Given the description of an element on the screen output the (x, y) to click on. 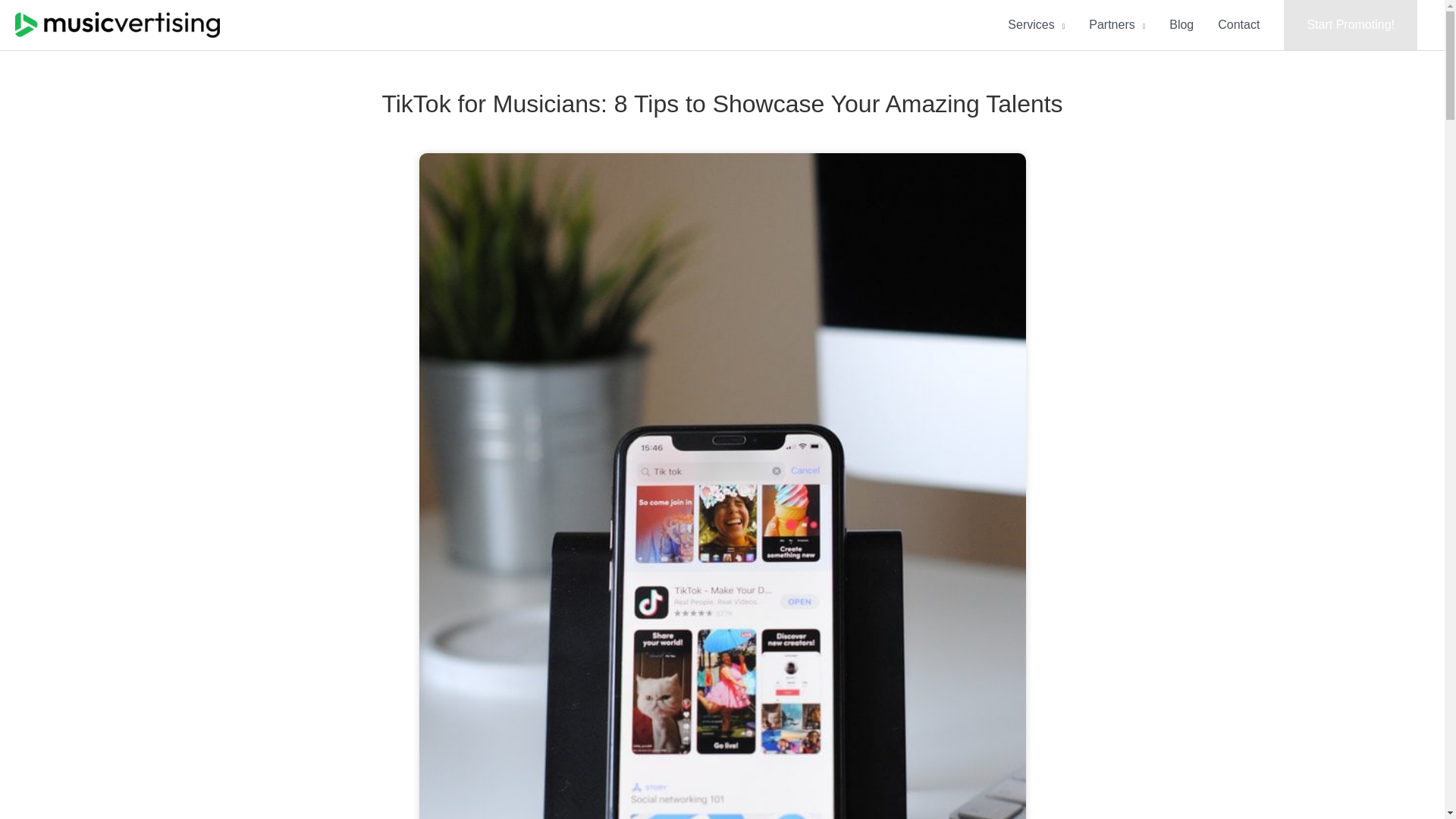
Contact (1238, 24)
Partners (1117, 24)
Blog (1181, 24)
Start Promoting! (1350, 24)
Services (1036, 24)
